Given the description of an element on the screen output the (x, y) to click on. 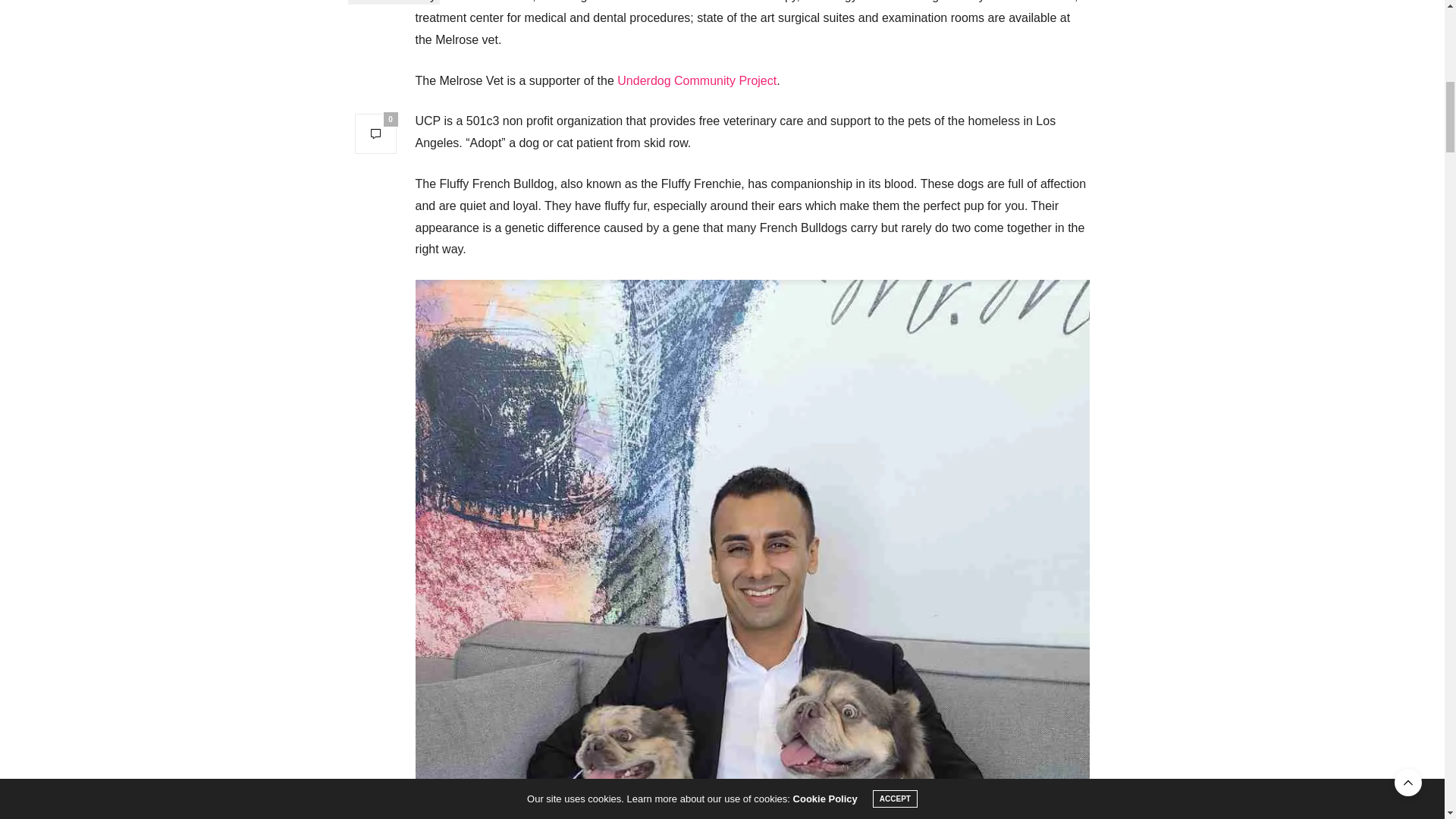
Underdog Community Project (696, 80)
